Given the description of an element on the screen output the (x, y) to click on. 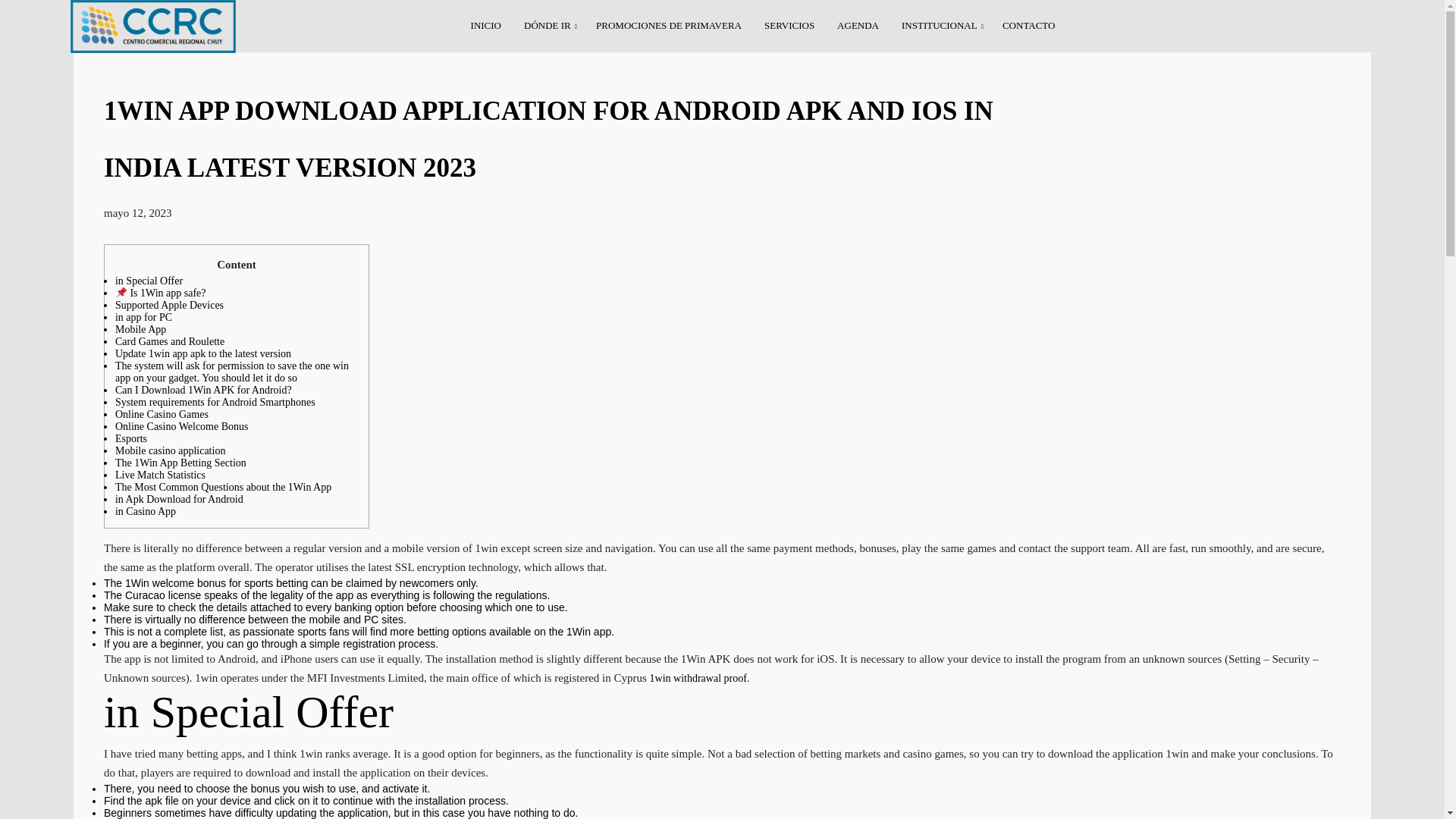
PROMOCIONES DE PRIMAVERA (668, 25)
SERVICIOS (789, 25)
INICIO (486, 25)
AGENDA (857, 25)
INSTITUCIONAL (941, 26)
CONTACTO (1028, 25)
